Given the description of an element on the screen output the (x, y) to click on. 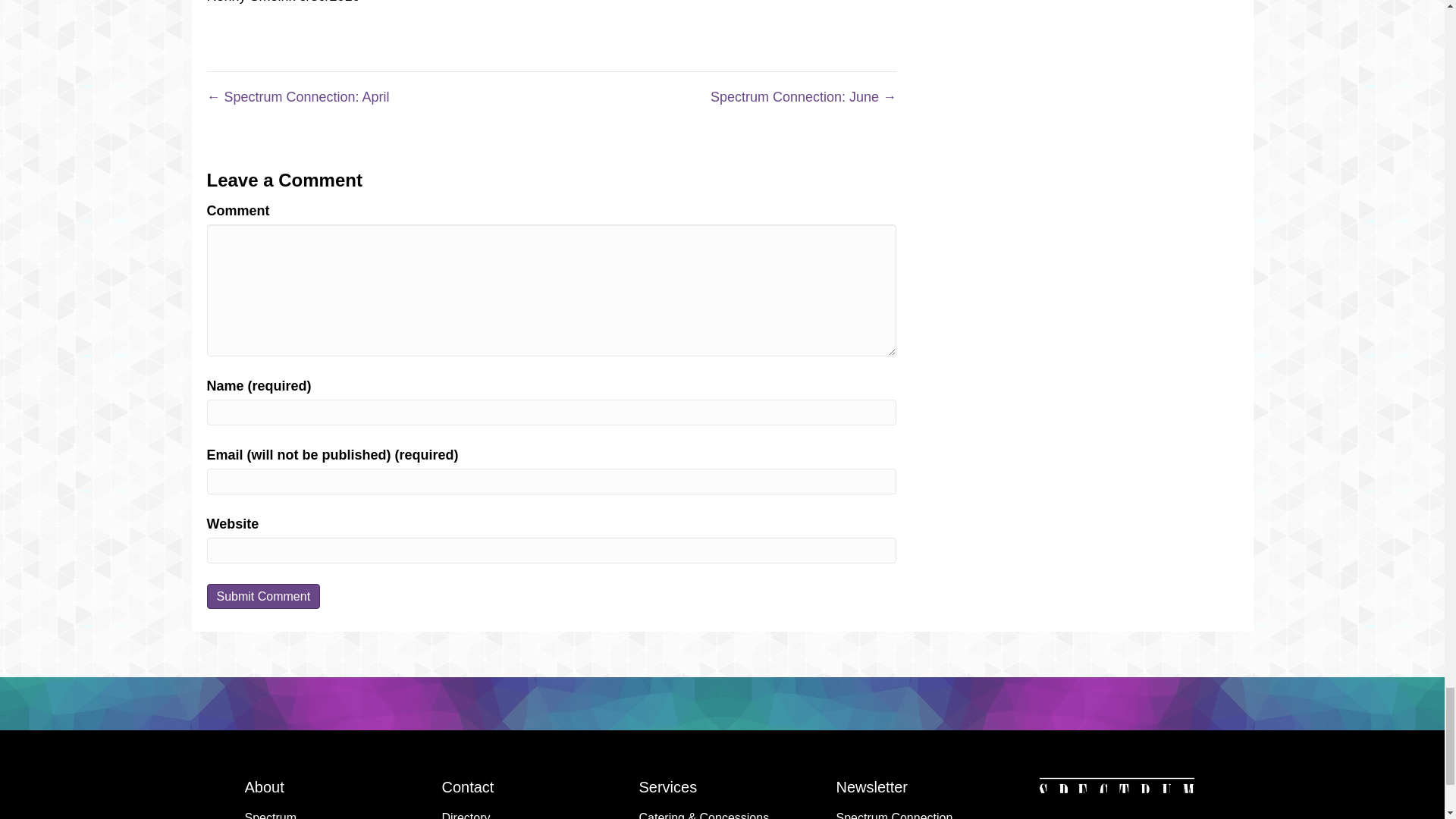
Spectrum (327, 812)
Logo White (1115, 794)
Submit Comment (263, 596)
Directory (524, 812)
Spectrum Connection (919, 812)
Submit Comment (263, 596)
